Given the description of an element on the screen output the (x, y) to click on. 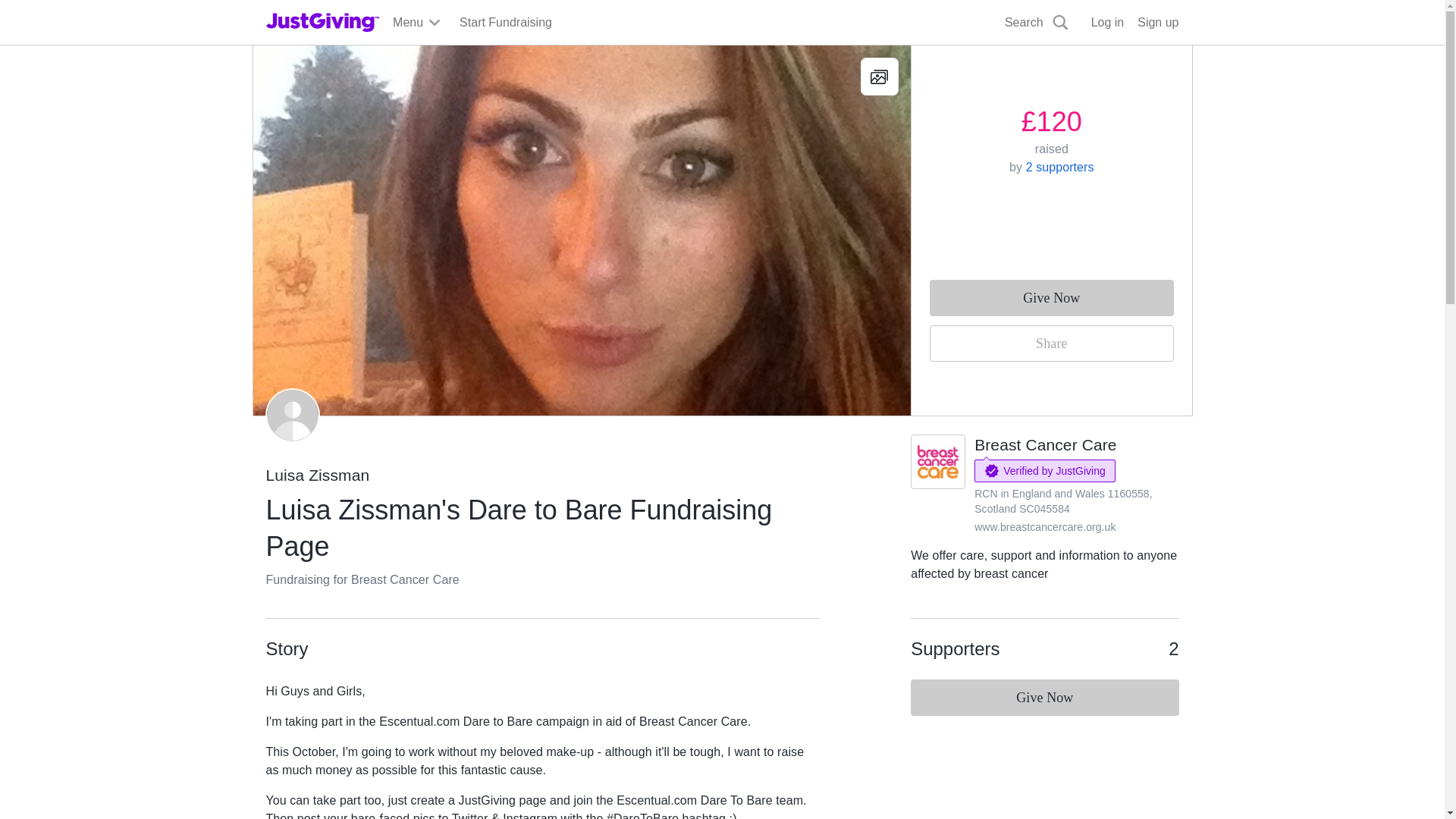
Start Fundraising (505, 22)
Search (919, 57)
Log in (1107, 22)
Search (1036, 22)
Sign up (1157, 22)
Menu (416, 22)
www.breastcancercare.org.uk (1044, 526)
Breast Cancer Care (1045, 444)
Share (1051, 343)
2 supporters (1060, 166)
